Given the description of an element on the screen output the (x, y) to click on. 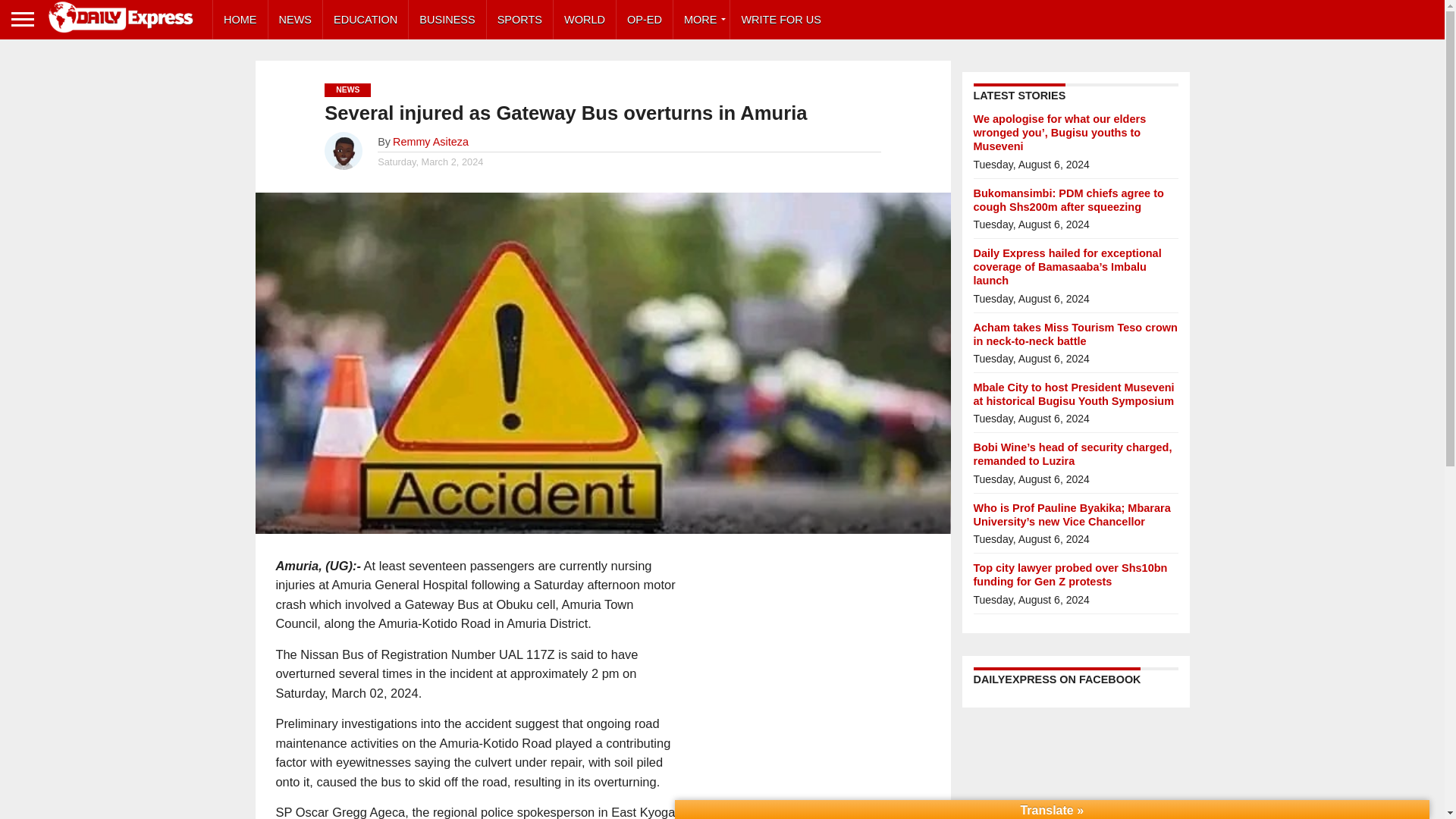
HOME (239, 19)
Remmy Asiteza (430, 141)
OP-ED (643, 19)
SPORTS (519, 19)
Posts by Remmy Asiteza (430, 141)
WORLD (584, 19)
WRITE FOR US (780, 19)
EDUCATION (365, 19)
MORE (701, 19)
BUSINESS (446, 19)
NEWS (295, 19)
